Given the description of an element on the screen output the (x, y) to click on. 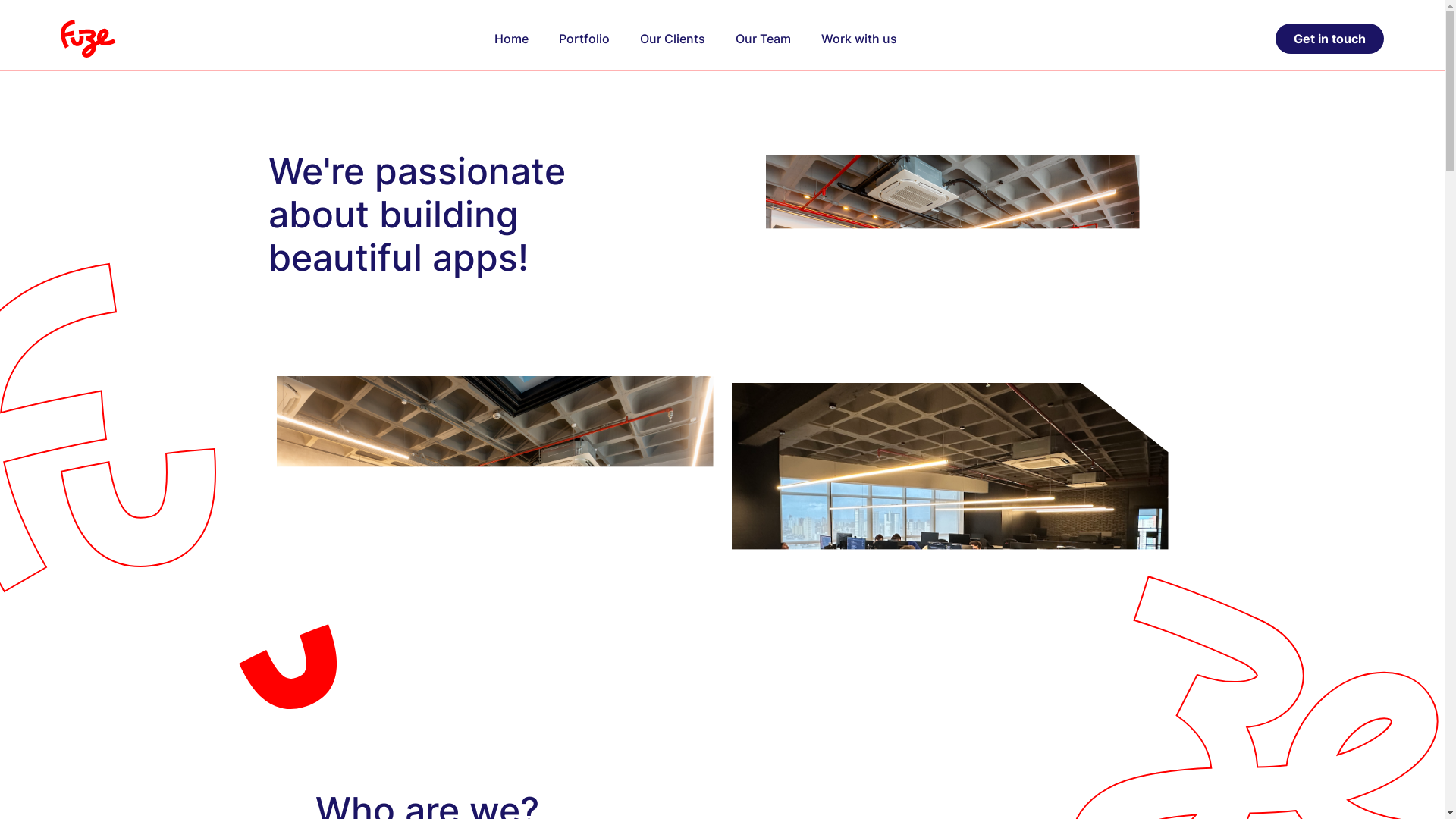
Get in touch Element type: text (1329, 38)
